Given the description of an element on the screen output the (x, y) to click on. 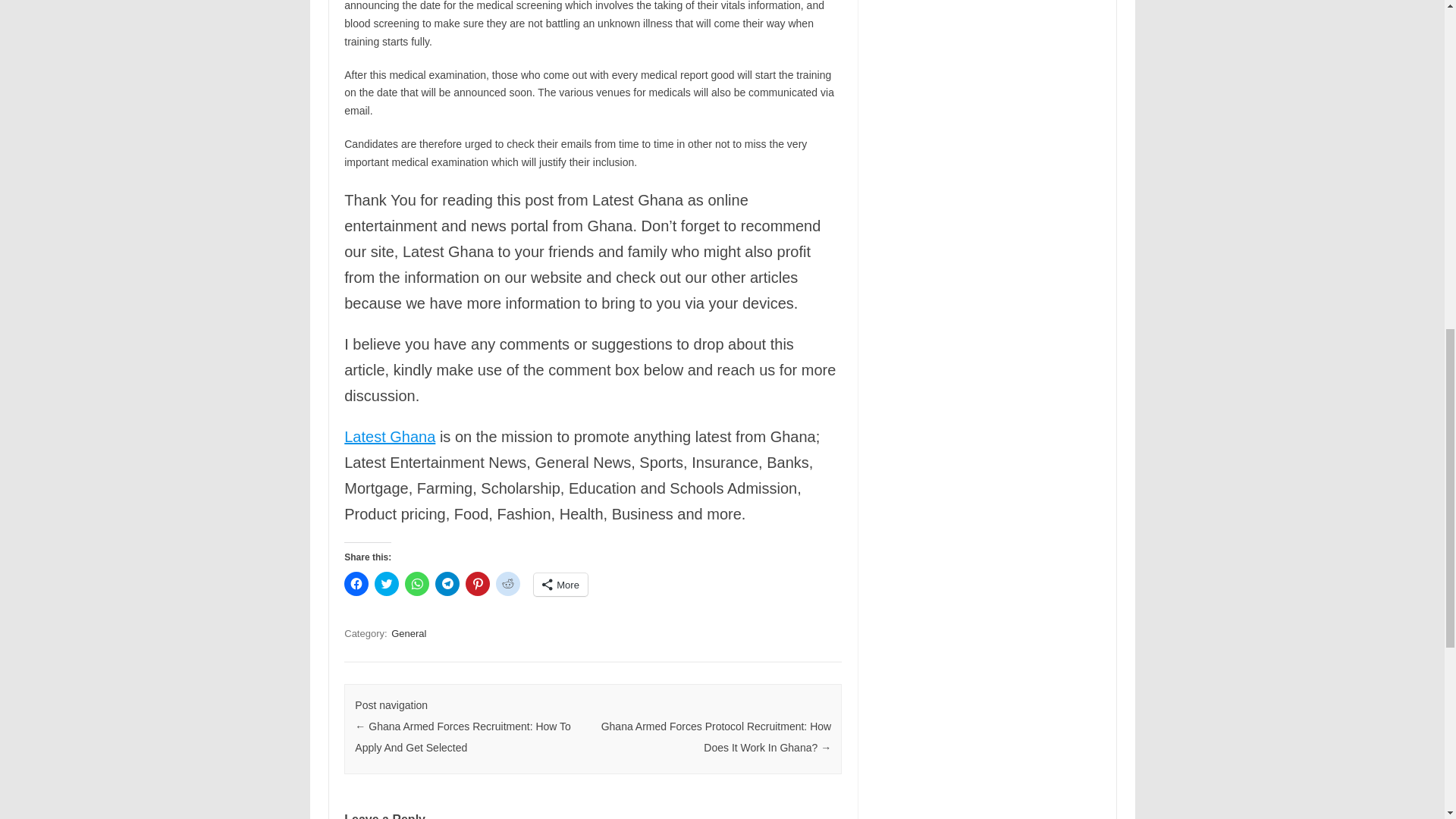
General (409, 633)
Click to share on Pinterest (477, 583)
Click to share on Reddit (507, 583)
Click to share on Telegram (447, 583)
Click to share on Twitter (386, 583)
Latest Ghana (389, 436)
Click to share on Facebook (355, 583)
Click to share on WhatsApp (416, 583)
More (561, 584)
